Given the description of an element on the screen output the (x, y) to click on. 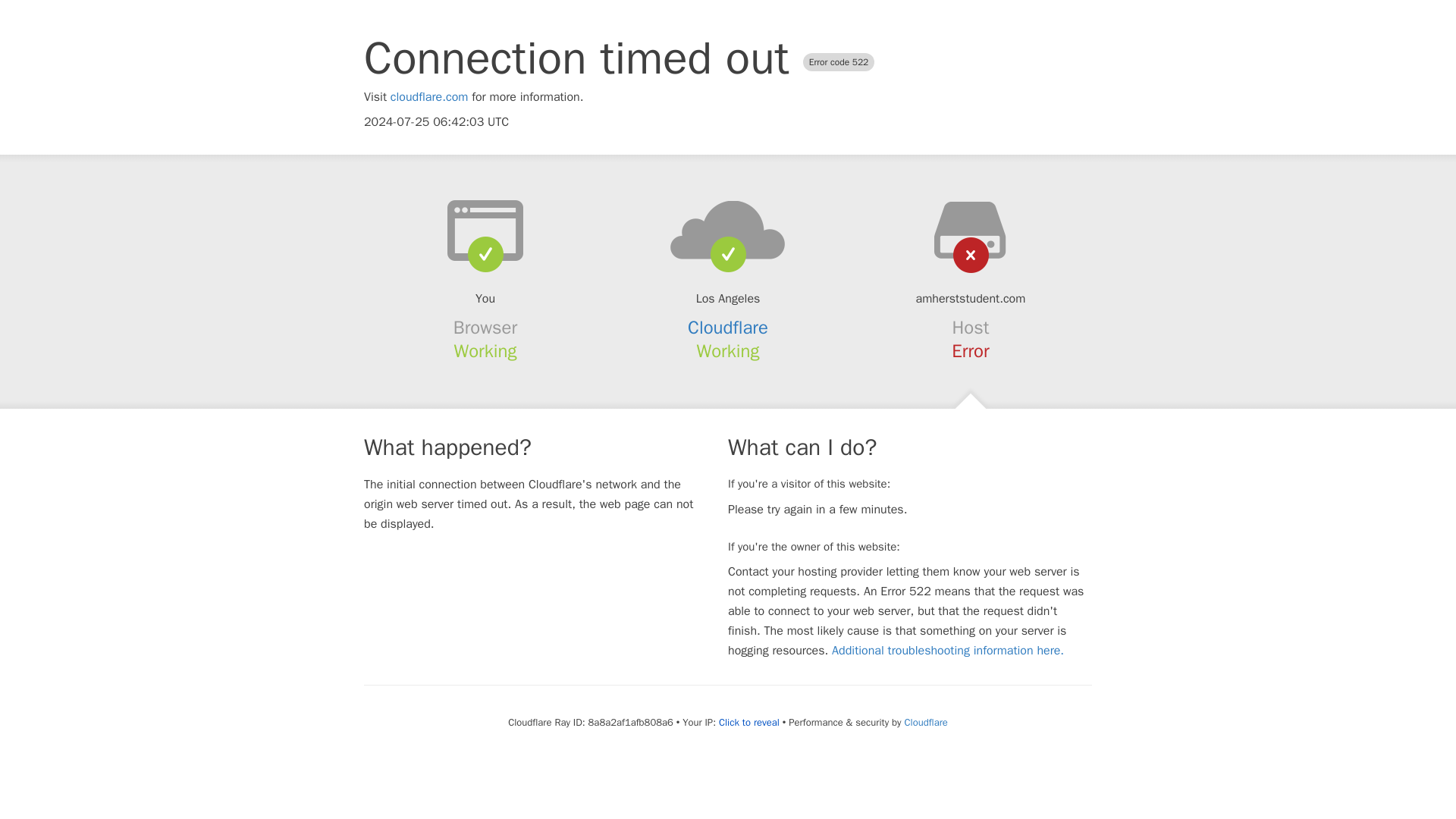
cloudflare.com (429, 96)
Cloudflare (925, 721)
Additional troubleshooting information here. (947, 650)
Click to reveal (748, 722)
Cloudflare (727, 327)
